Given the description of an element on the screen output the (x, y) to click on. 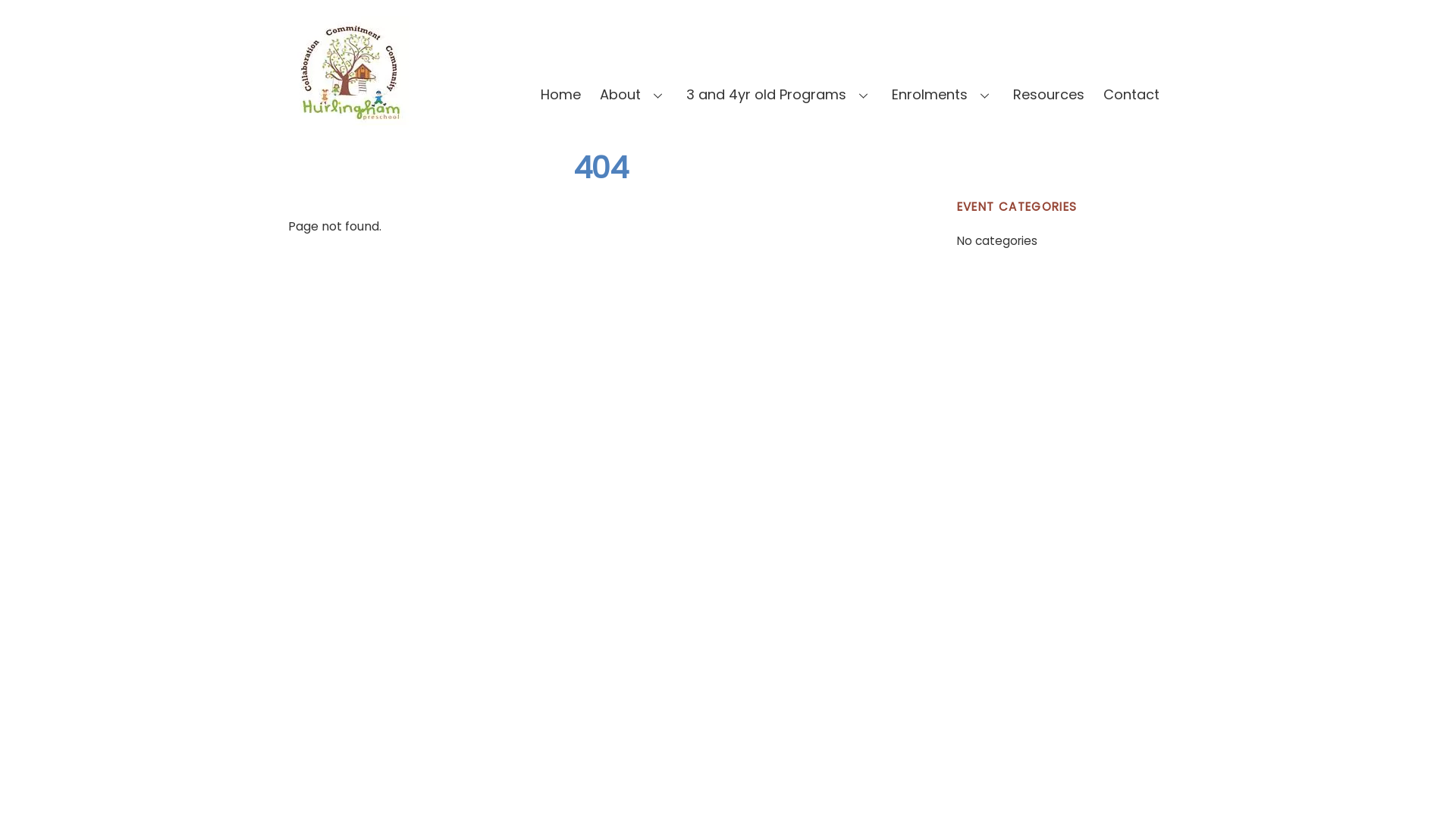
About Element type: text (632, 94)
logo_01 Element type: hover (348, 71)
Contact Element type: text (1131, 94)
Hurlingham Preschool Element type: hover (348, 119)
Resources Element type: text (1048, 94)
Enrolments Element type: text (942, 94)
3 and 4yr old Programs Element type: text (778, 94)
Home Element type: text (560, 94)
